Given the description of an element on the screen output the (x, y) to click on. 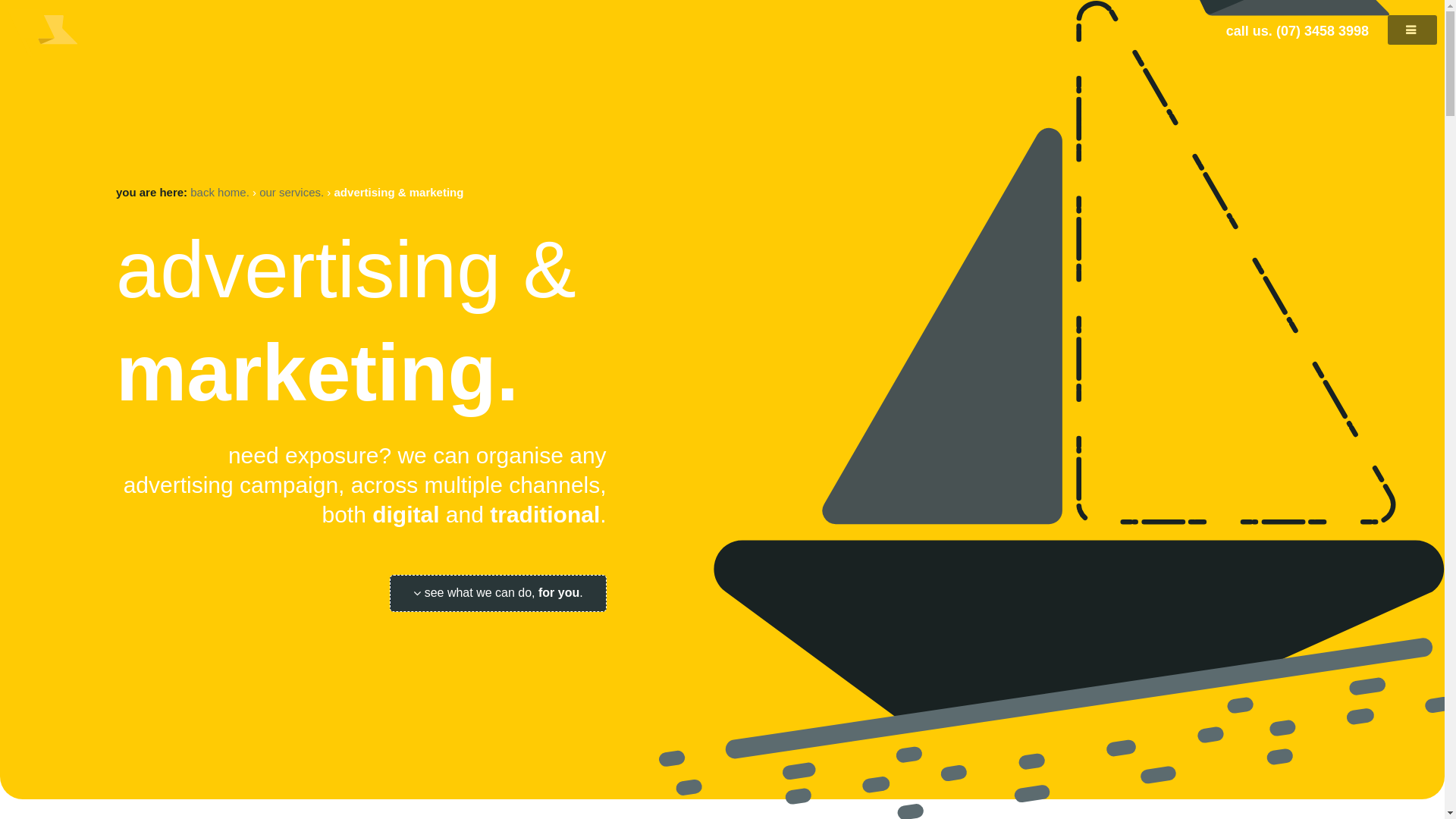
our services. Element type: text (291, 191)
back home. Element type: text (219, 191)
see what we can do, for you. Element type: text (497, 592)
(07) 3458 3998 Element type: text (1322, 30)
